Given the description of an element on the screen output the (x, y) to click on. 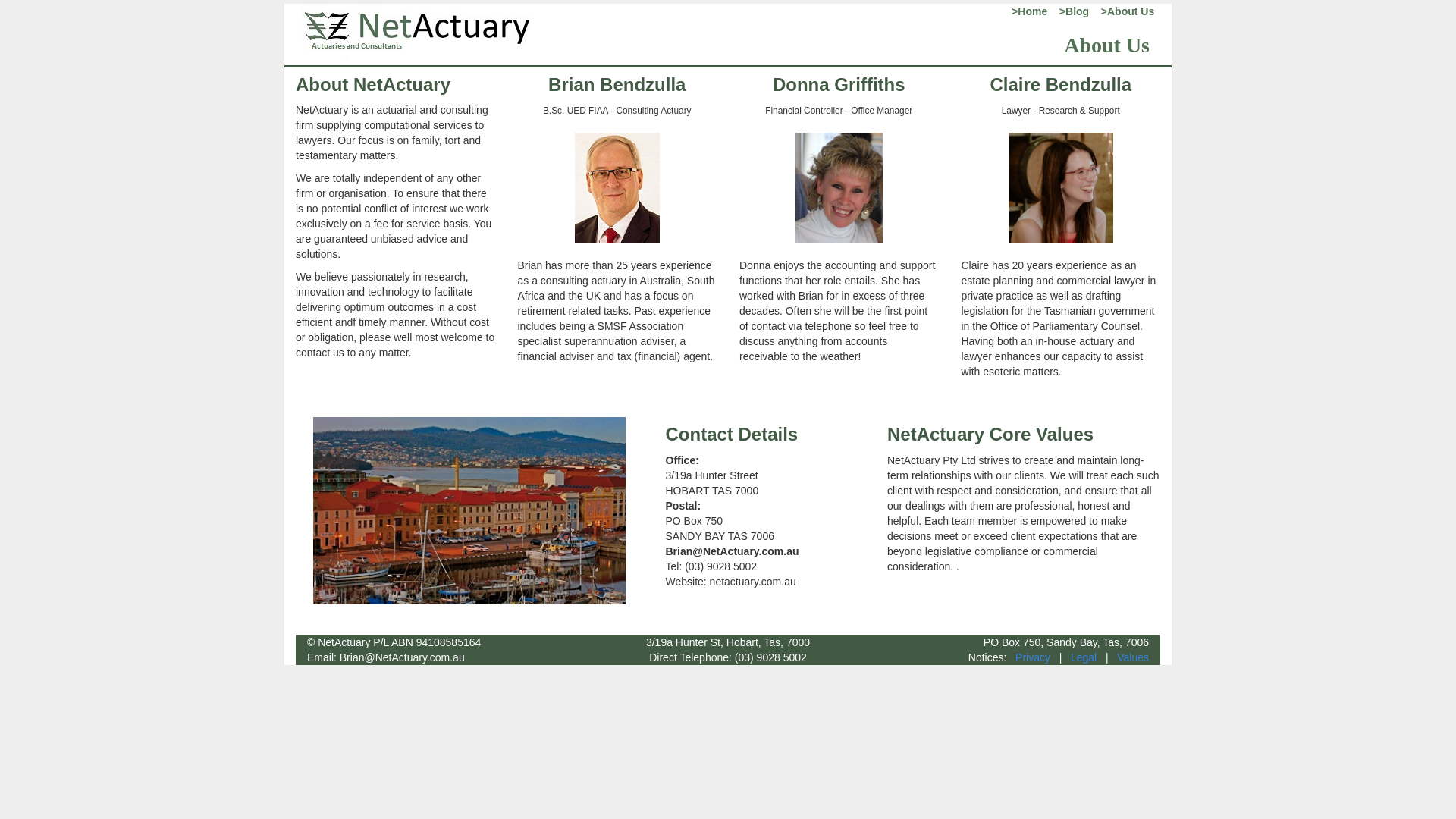
Values Element type: text (1132, 657)
Privacy Element type: text (1032, 657)
  >Blog Element type: text (1069, 11)
  >About Us   Element type: text (1126, 11)
  >Home Element type: text (1026, 11)
Legal Element type: text (1083, 657)
